Given the description of an element on the screen output the (x, y) to click on. 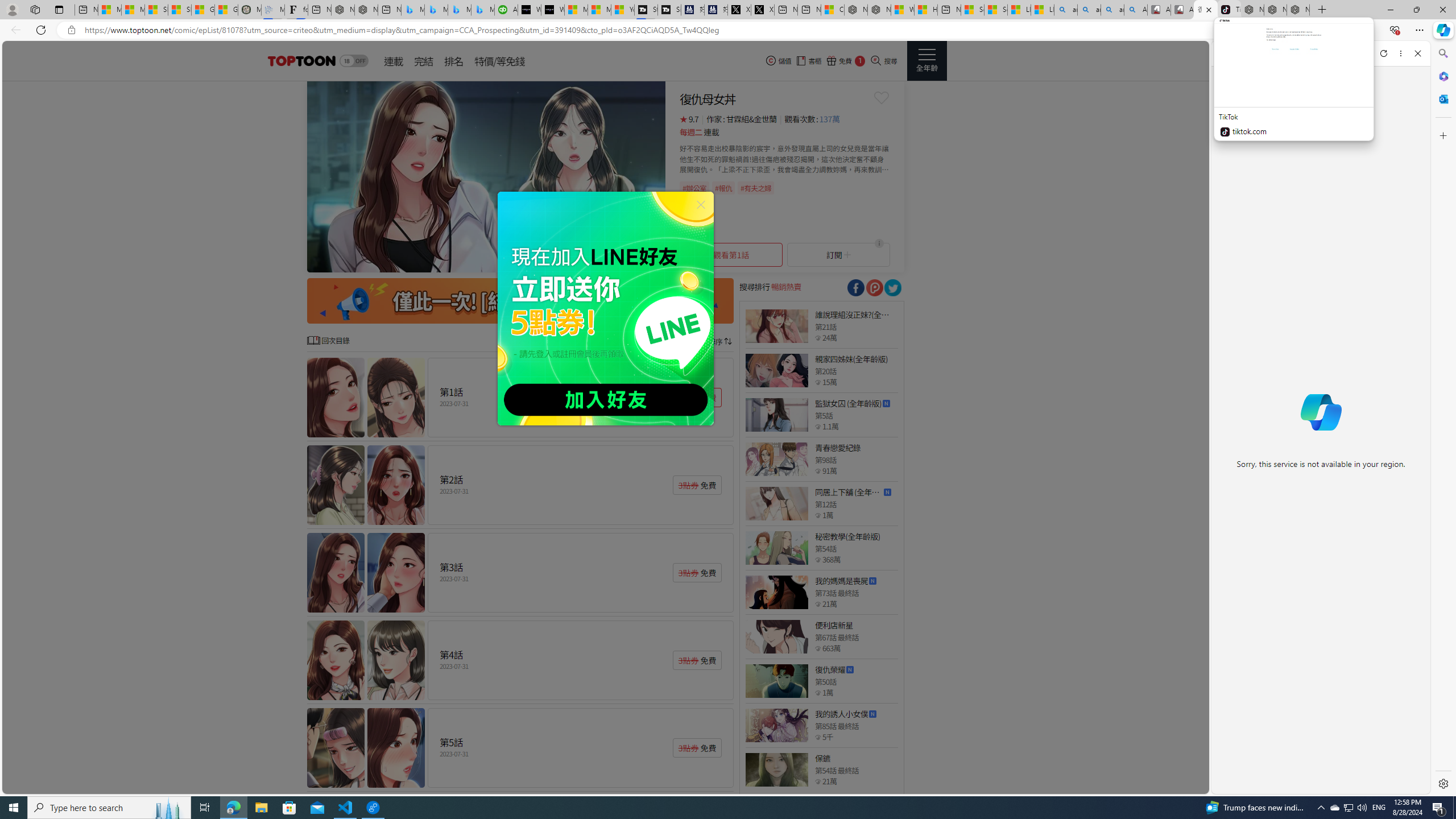
Class: swiper-slide (486, 176)
Amazon Echo Robot - Search Images (1135, 9)
